Given the description of an element on the screen output the (x, y) to click on. 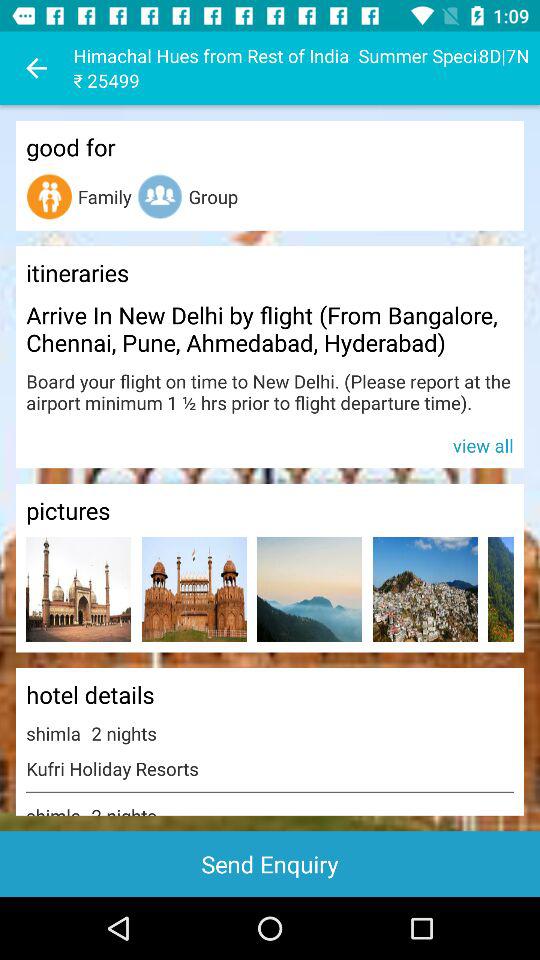
view photo (309, 589)
